Given the description of an element on the screen output the (x, y) to click on. 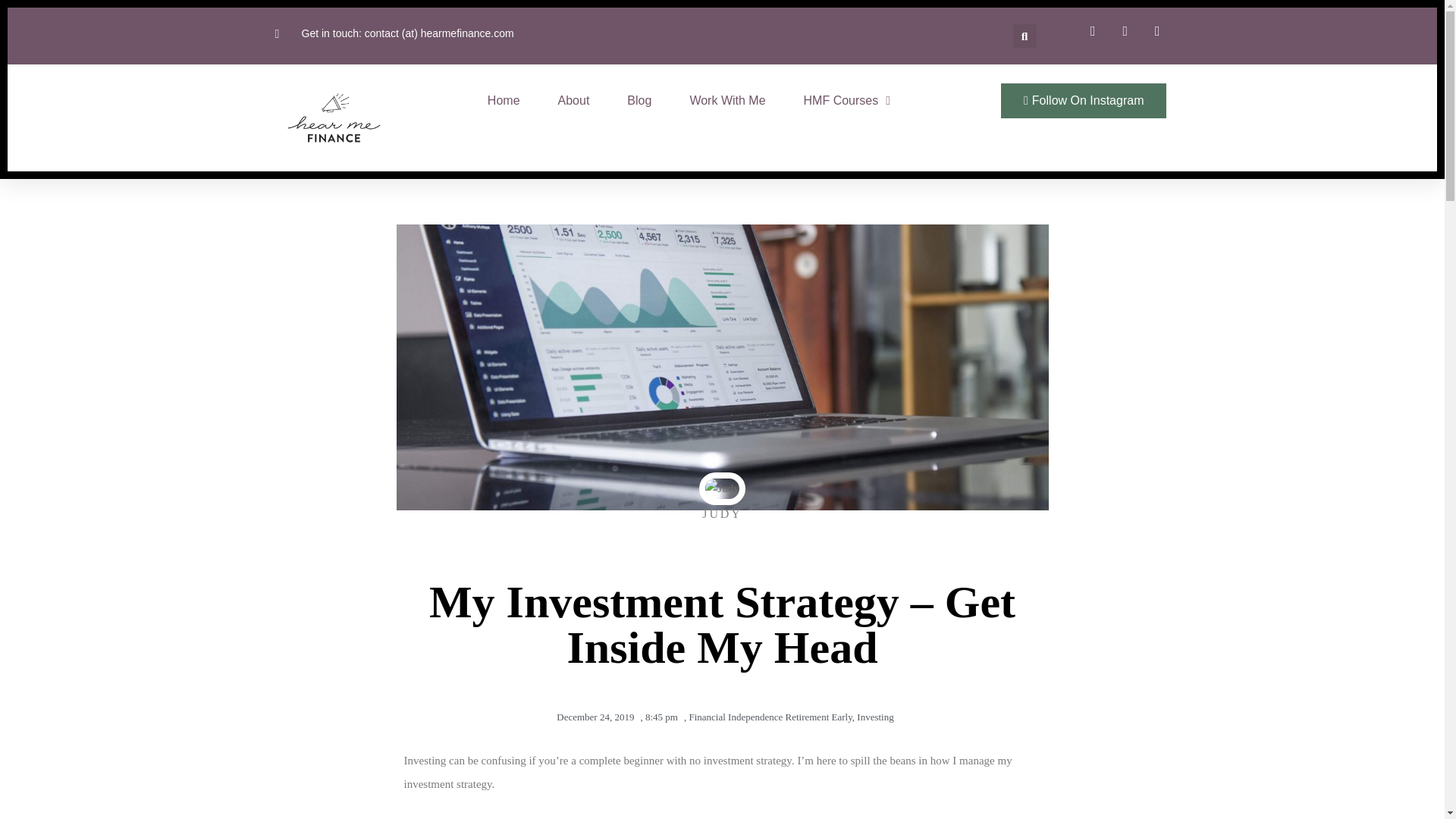
About (573, 100)
Home (503, 100)
Follow On Instagram (1083, 100)
HMF Courses (847, 100)
Work With Me (726, 100)
